Given the description of an element on the screen output the (x, y) to click on. 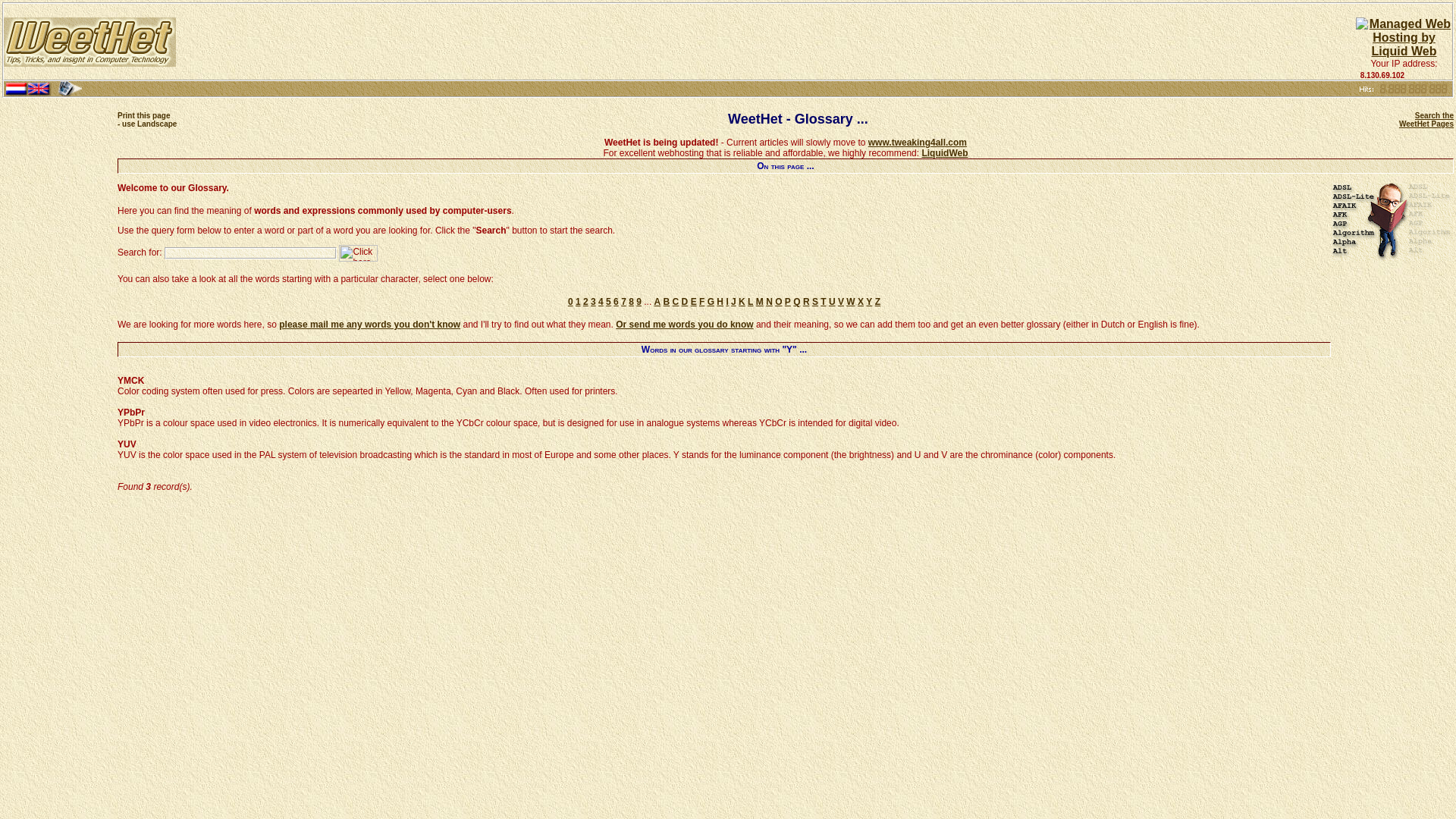
LiquidWeb (146, 119)
Click here to start the search (1426, 119)
We're moving ... (944, 153)
www.tweaking4all.com (358, 252)
